Given the description of an element on the screen output the (x, y) to click on. 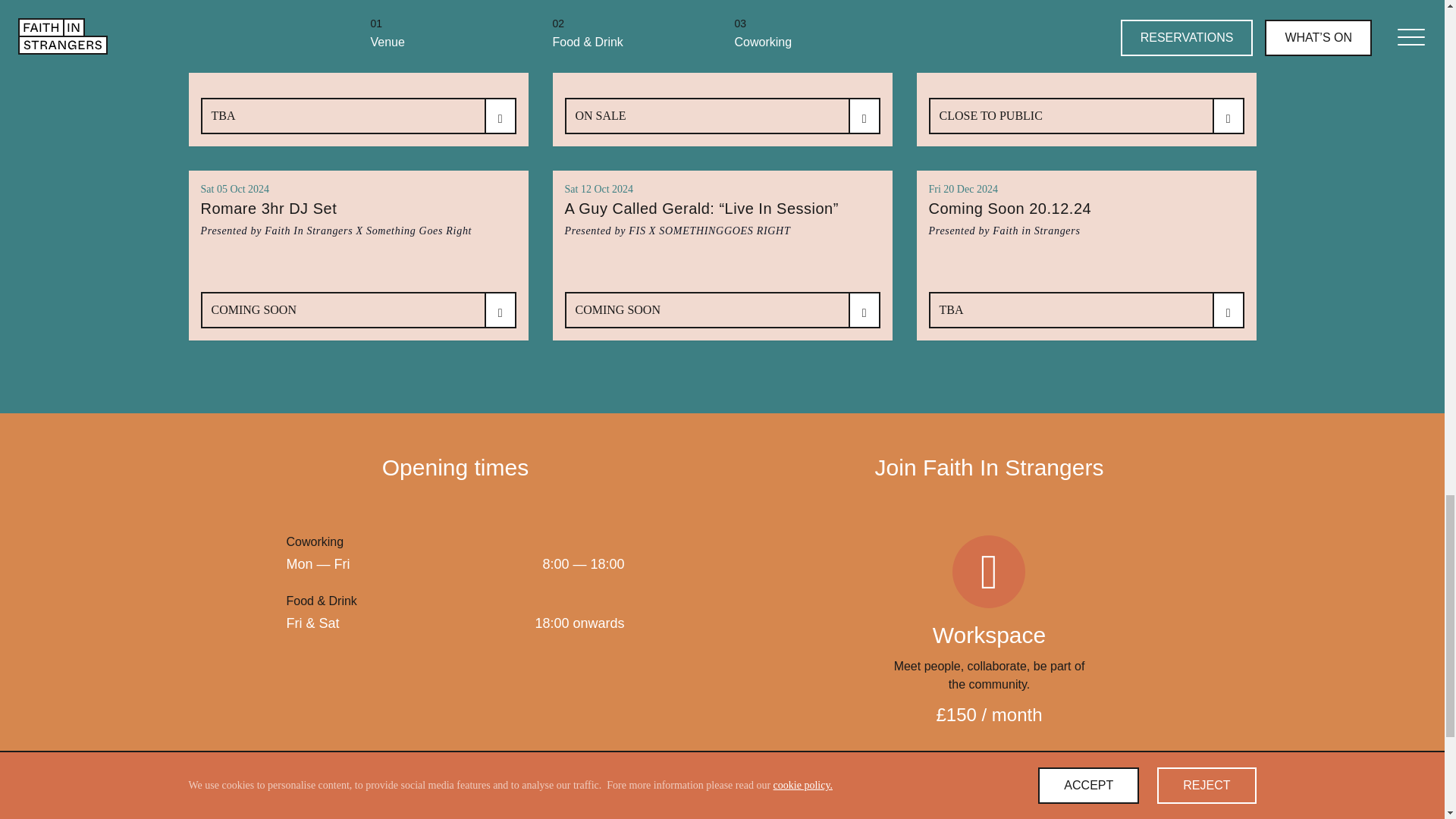
Coming Soon 7.9.24 (357, 30)
